Given the description of an element on the screen output the (x, y) to click on. 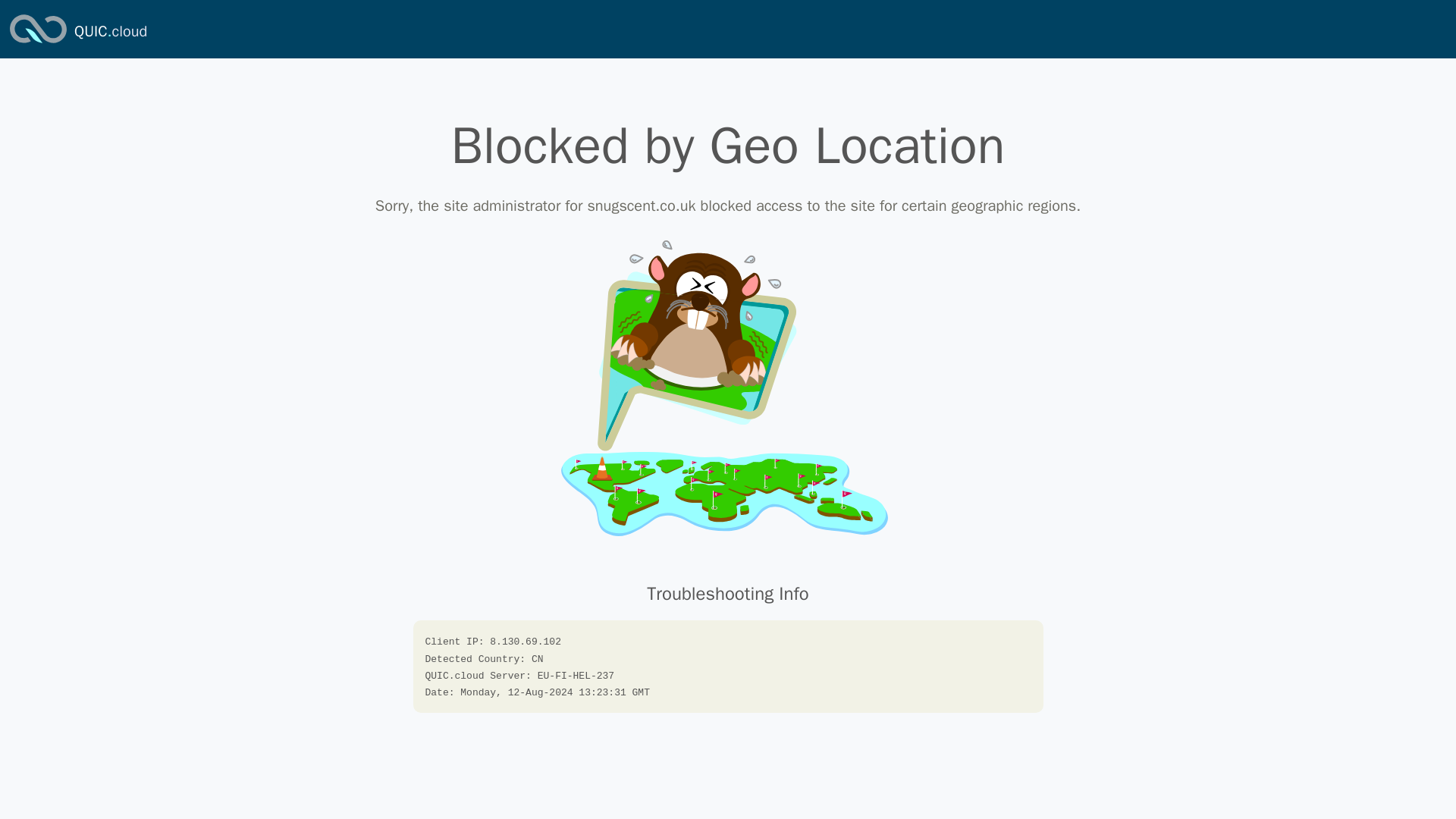
QUIC.cloud (37, 43)
QUIC.cloud (110, 31)
QUIC.cloud (110, 31)
